Given the description of an element on the screen output the (x, y) to click on. 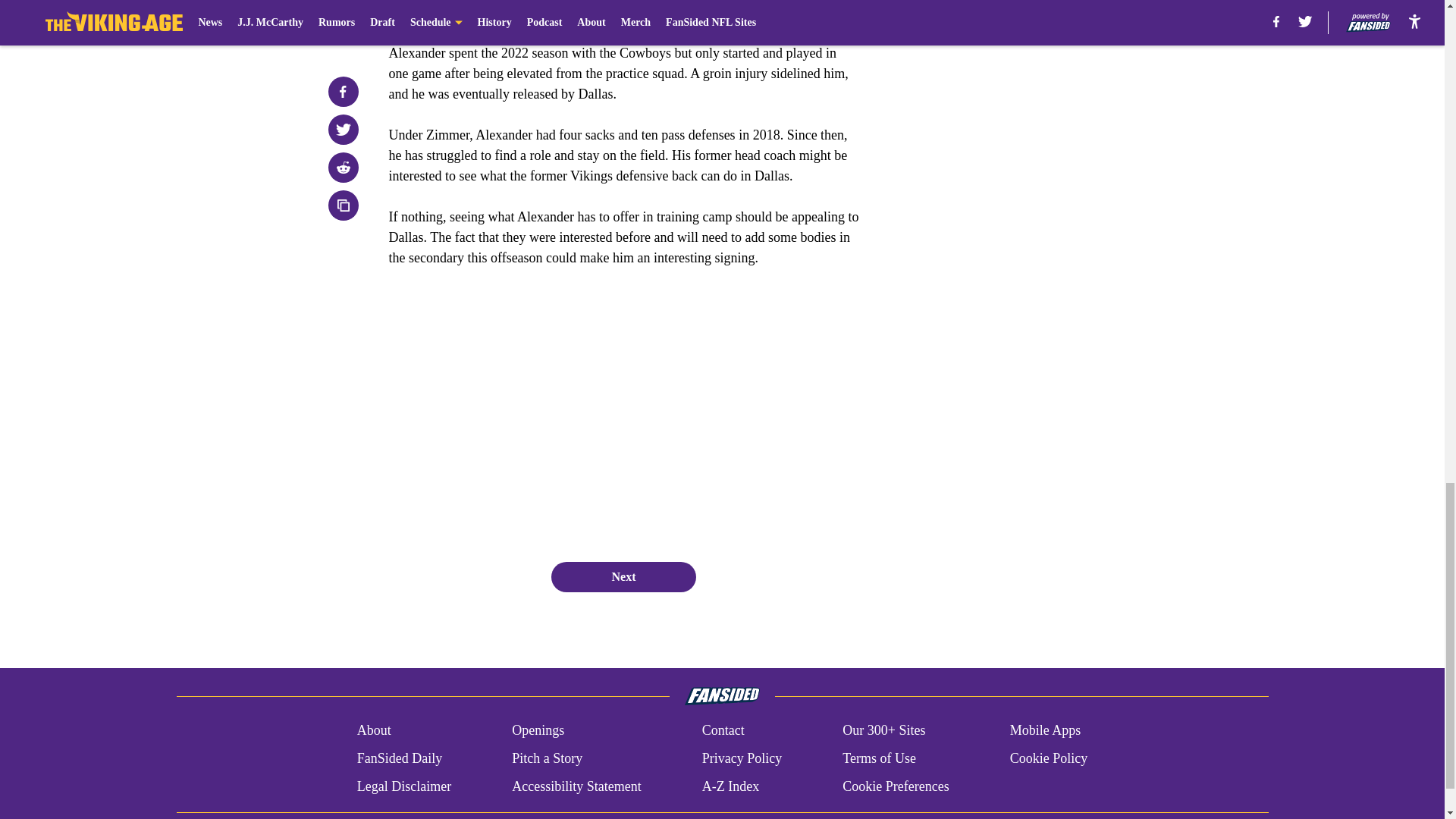
Terms of Use (879, 758)
About (373, 730)
Contact (722, 730)
FanSided Daily (399, 758)
Pitch a Story (547, 758)
Mobile Apps (1045, 730)
Next (622, 576)
Privacy Policy (742, 758)
Openings (538, 730)
